Given the description of an element on the screen output the (x, y) to click on. 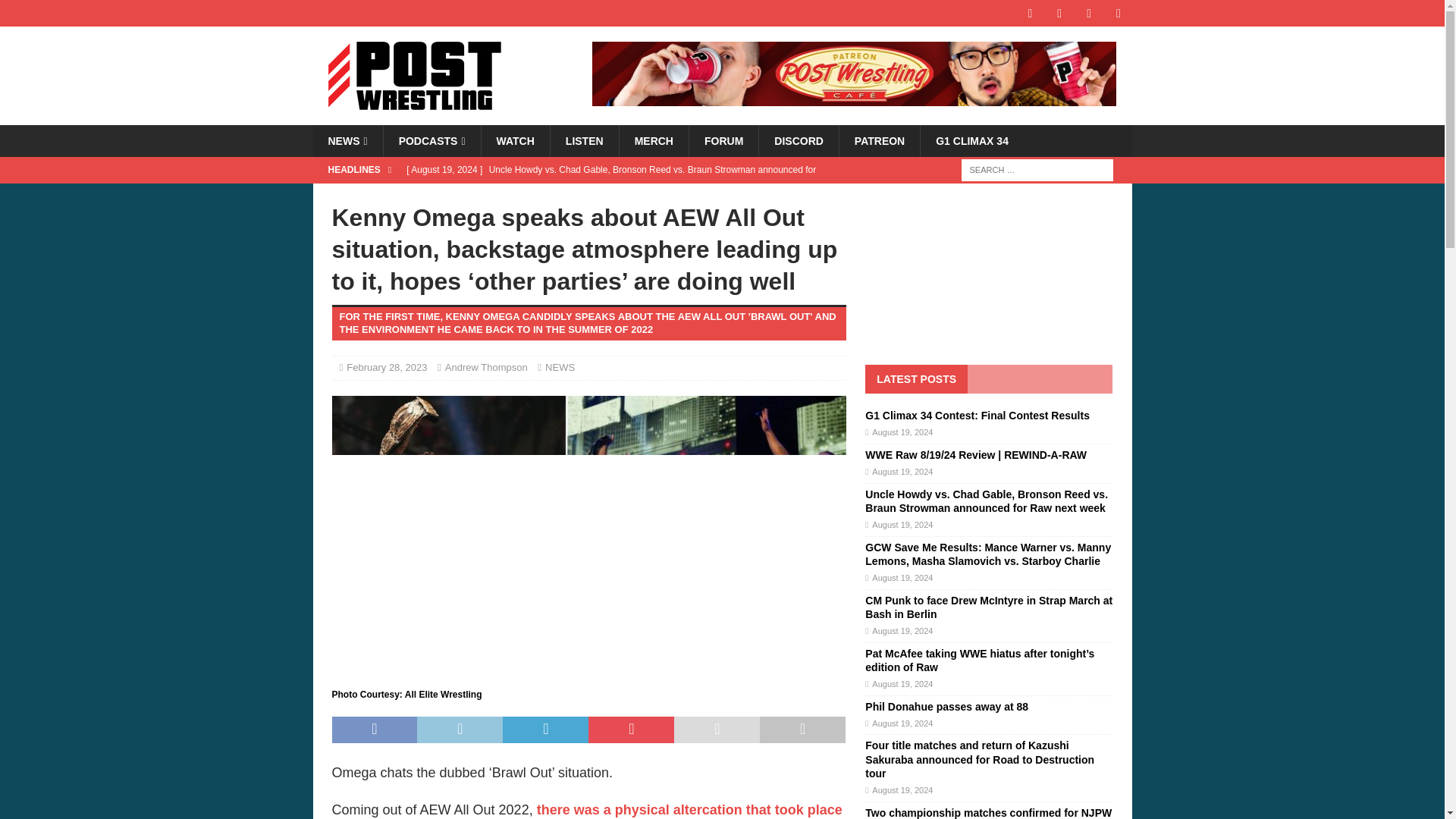
PODCASTS (431, 141)
NEWS (347, 141)
